Given the description of an element on the screen output the (x, y) to click on. 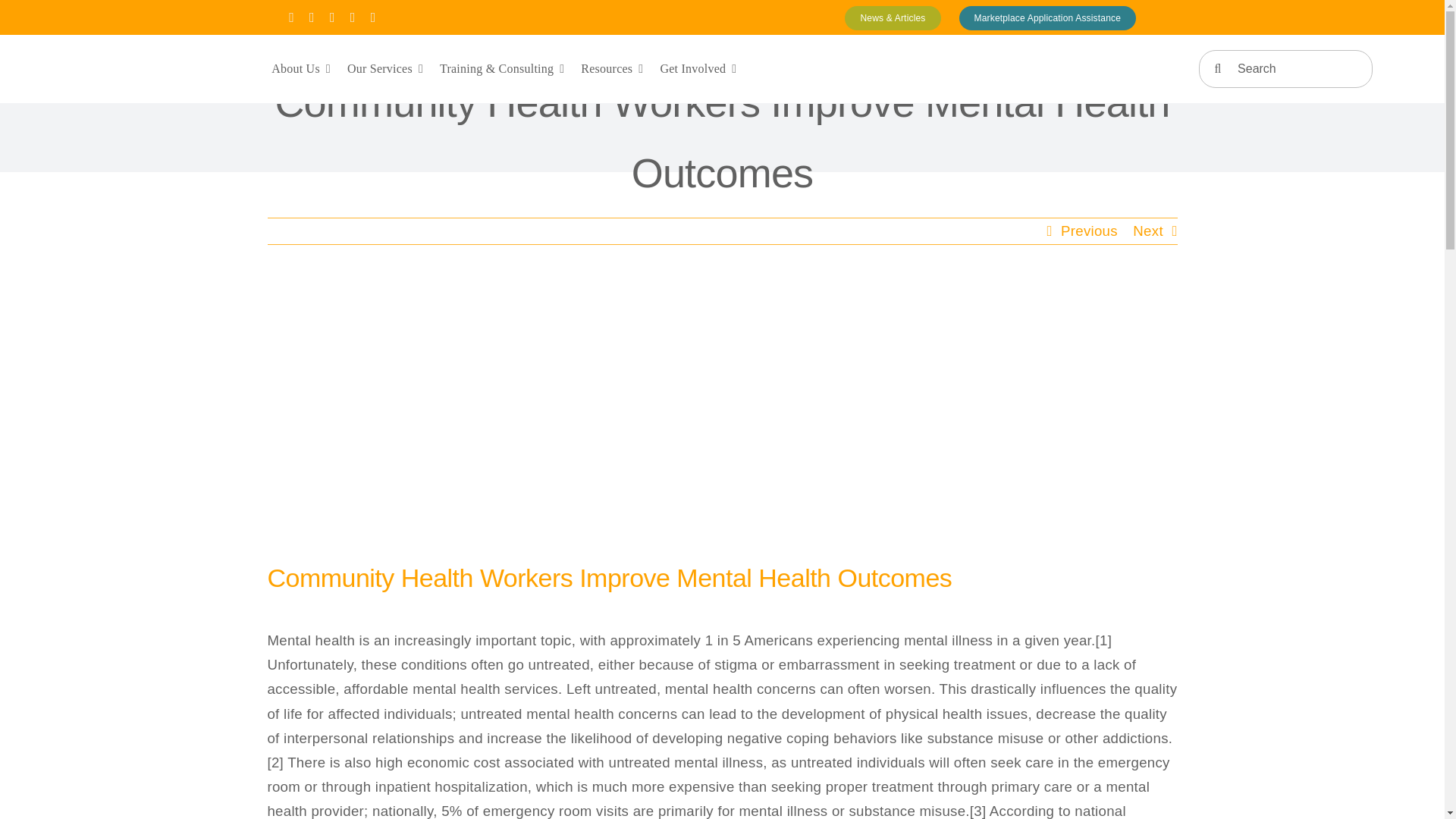
Marketplace Application Assistance (1046, 17)
X (311, 17)
LinkedIn (373, 17)
YouTube (352, 17)
Instagram (332, 17)
Facebook (291, 17)
About Us (300, 67)
Community Health Workers Improve Mental Health Outcomes (721, 582)
